Given the description of an element on the screen output the (x, y) to click on. 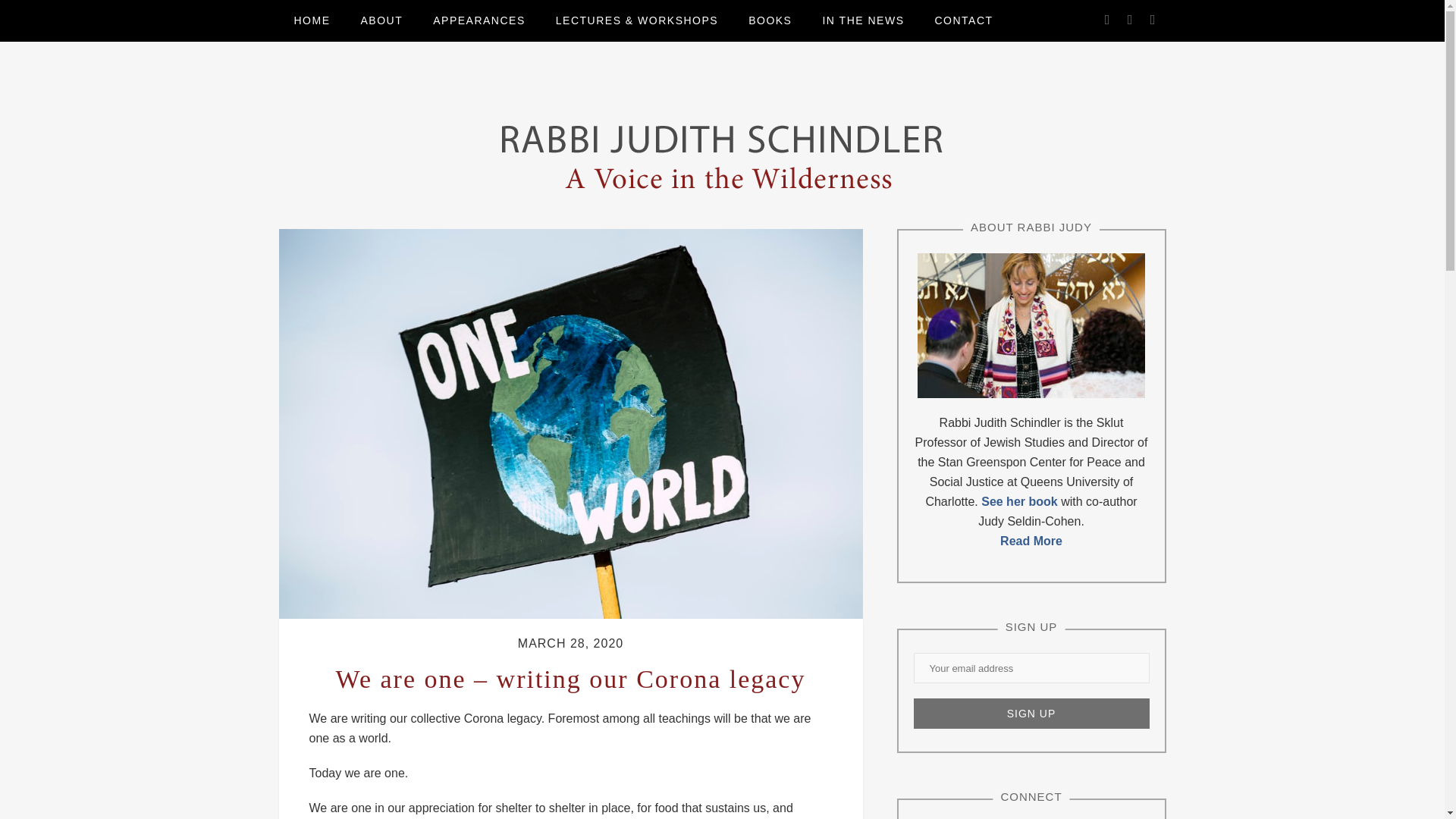
Sign up (1032, 713)
BOOKS (770, 20)
IN THE NEWS (862, 20)
ABOUT (381, 20)
APPEARANCES (478, 20)
HOME (311, 20)
CONTACT (963, 20)
